Given the description of an element on the screen output the (x, y) to click on. 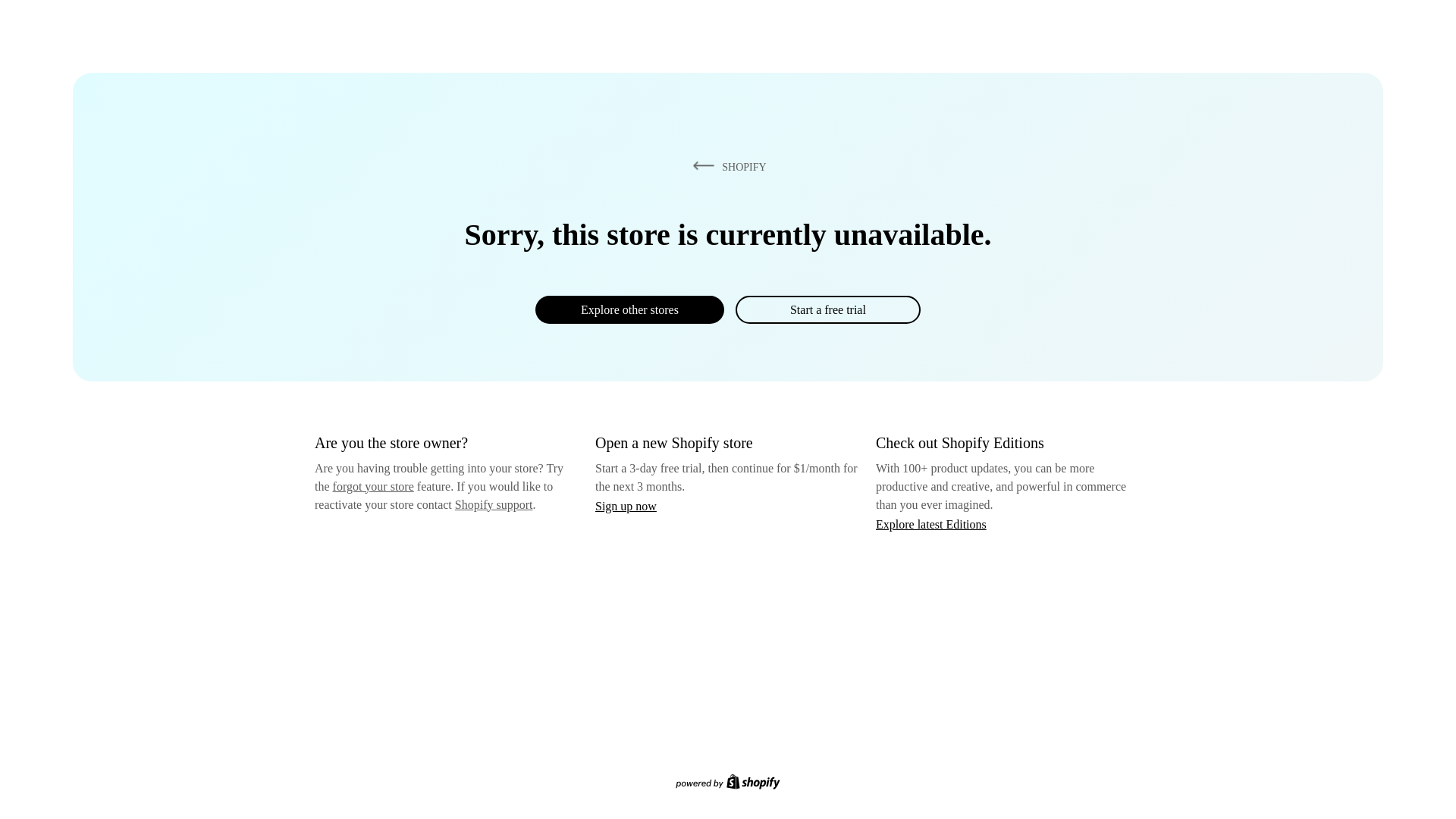
Shopify support (493, 504)
Explore other stores (629, 309)
Explore latest Editions (931, 523)
SHOPIFY (726, 166)
Sign up now (625, 505)
Start a free trial (827, 309)
forgot your store (373, 486)
